Given the description of an element on the screen output the (x, y) to click on. 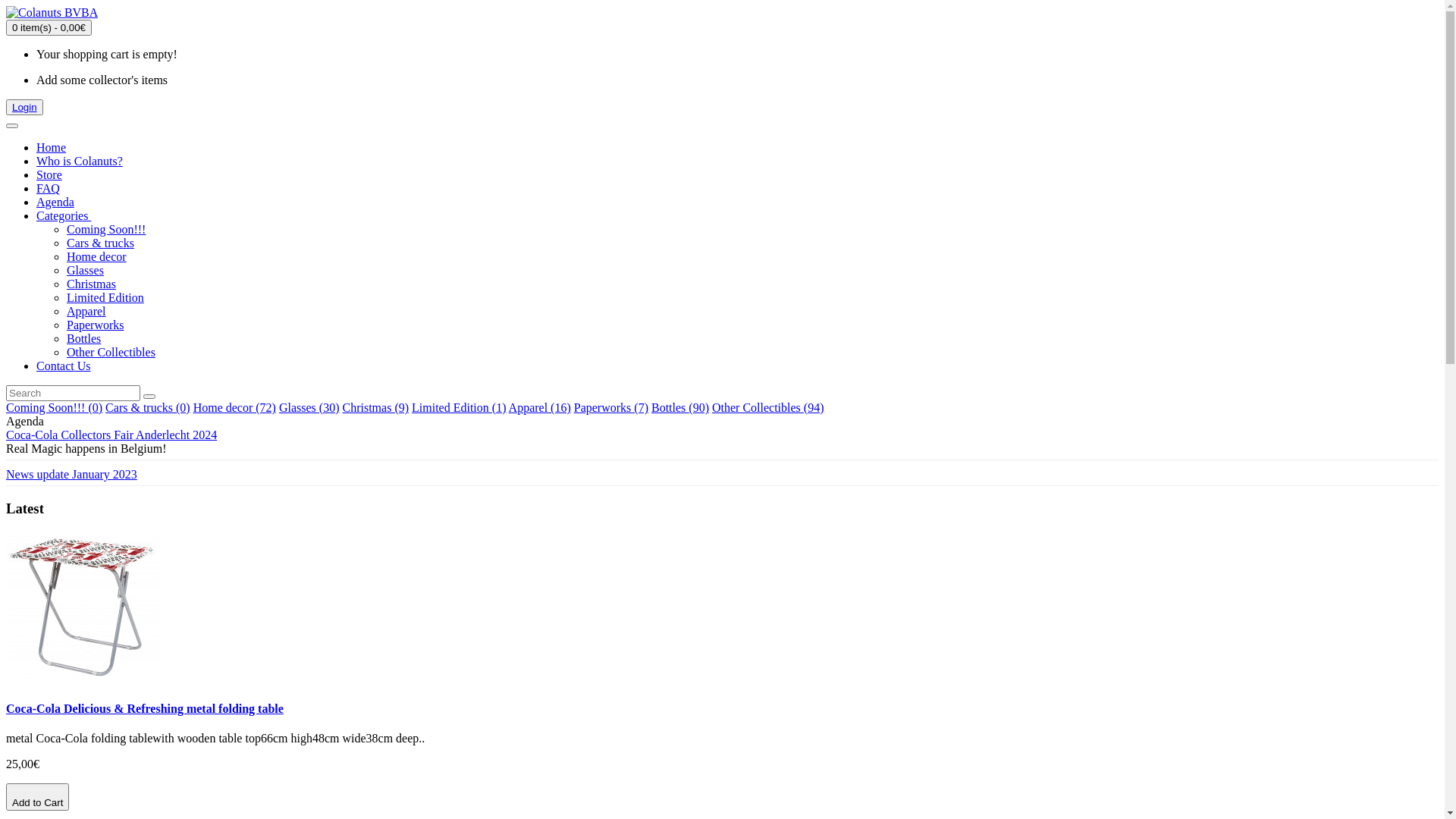
Login Element type: text (24, 106)
Other Collectibles (94) Element type: text (768, 407)
Glasses Element type: text (84, 269)
Paperworks Element type: text (95, 324)
Limited Edition Element type: text (105, 297)
Limited Edition (1) Element type: text (458, 407)
Apparel Element type: text (86, 310)
Store Element type: text (49, 174)
FAQ Element type: text (47, 188)
Cars & trucks Element type: text (100, 242)
Coming Soon!!! (0) Element type: text (54, 407)
Categories  Element type: text (63, 215)
Colanuts BVBA Element type: hover (51, 12)
Glasses (30) Element type: text (309, 407)
Cars & trucks (0) Element type: text (147, 407)
Home decor Element type: text (96, 256)
Apparel (16) Element type: text (539, 407)
Home Element type: text (50, 147)
Contact Us Element type: text (63, 365)
Home decor (72) Element type: text (234, 407)
Coca-Cola Delicious & Refreshing metal folding table Element type: hover (81, 606)
Christmas (9) Element type: text (375, 407)
Agenda Element type: text (55, 201)
Bottles Element type: text (83, 338)
Coca-Cola Collectors Fair Anderlecht 2024 Element type: text (111, 434)
Coming Soon!!! Element type: text (105, 228)
Paperworks (7) Element type: text (611, 407)
Christmas Element type: text (91, 283)
Add to Cart Element type: text (37, 796)
Who is Colanuts? Element type: text (79, 160)
Coca-Cola Delicious & Refreshing metal folding table Element type: text (144, 708)
Other Collectibles Element type: text (110, 351)
Login Element type: text (24, 107)
Bottles (90) Element type: text (680, 407)
News update January 2023 Element type: text (71, 473)
